Given the description of an element on the screen output the (x, y) to click on. 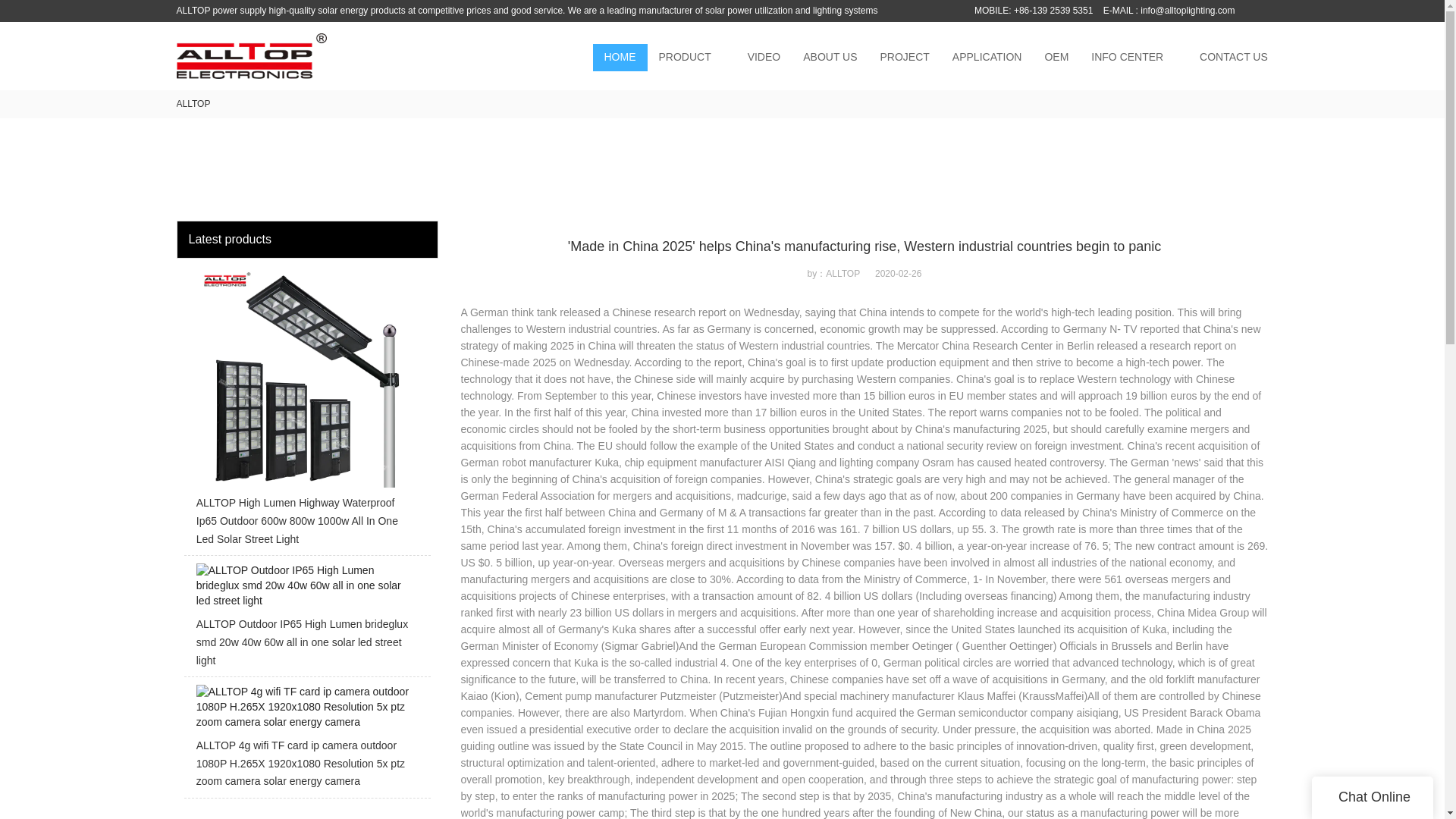
APPLICATION (986, 57)
PROJECT (904, 57)
CONTACT US (1233, 57)
VIDEO (764, 57)
PRODUCT (684, 57)
OEM (1056, 57)
INFO CENTER (1127, 57)
ABOUT US (829, 57)
HOME (619, 57)
ALLTOP (192, 103)
